Given the description of an element on the screen output the (x, y) to click on. 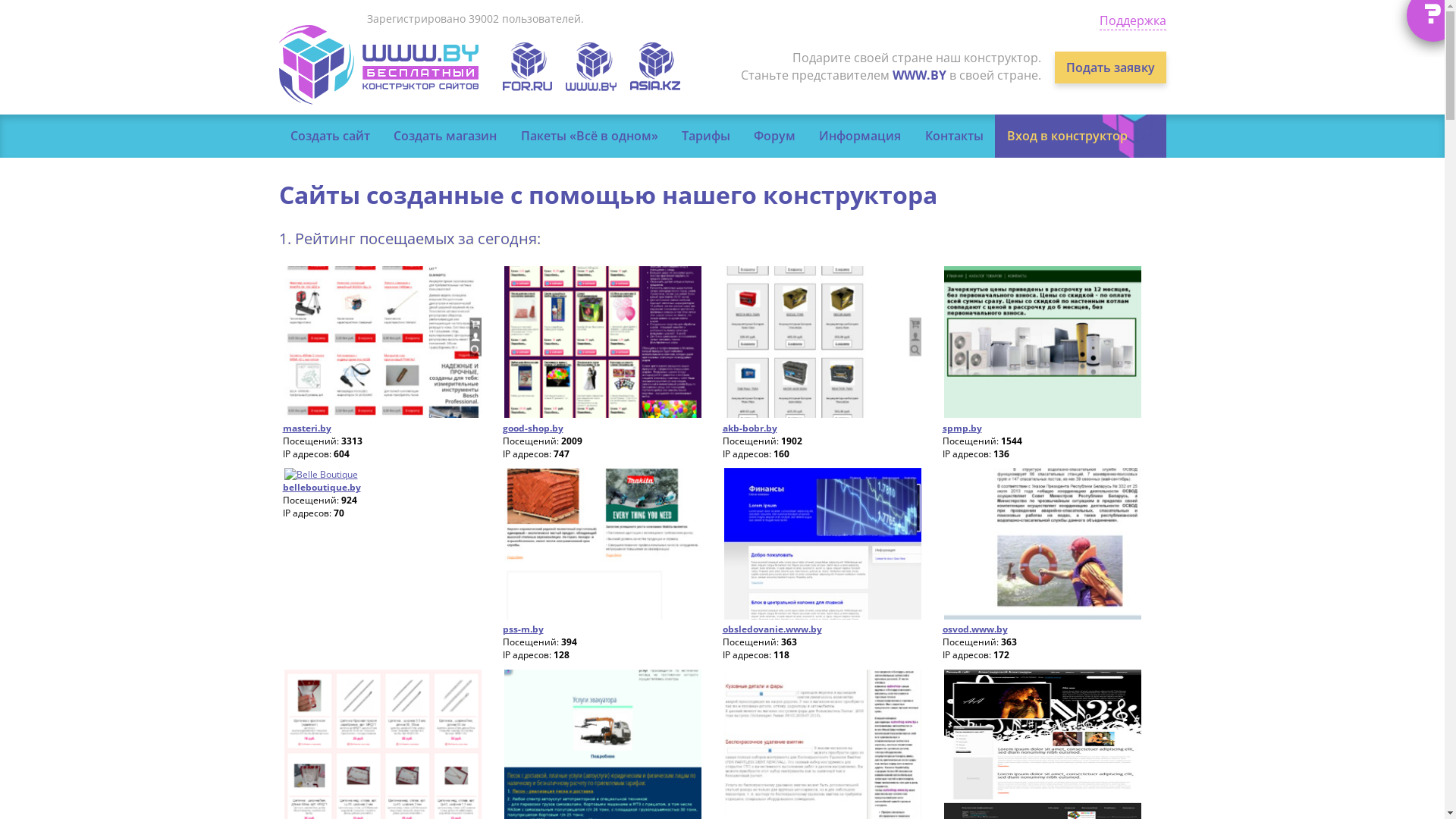
Belle Boutique Element type: hover (378, 473)
osvod.www.by Element type: text (974, 628)
masteri.by Element type: hover (382, 413)
masteri.by Element type: text (306, 427)
pss-m.by Element type: text (522, 628)
good-shop.by Element type: text (532, 427)
AKB-BOBR.BY Element type: hover (821, 413)
obsledovanie.www.by Element type: text (771, 628)
belleboutique.by Element type: text (321, 486)
akb-bobr.by Element type: text (748, 427)
spmp.by Element type: text (961, 427)
